Given the description of an element on the screen output the (x, y) to click on. 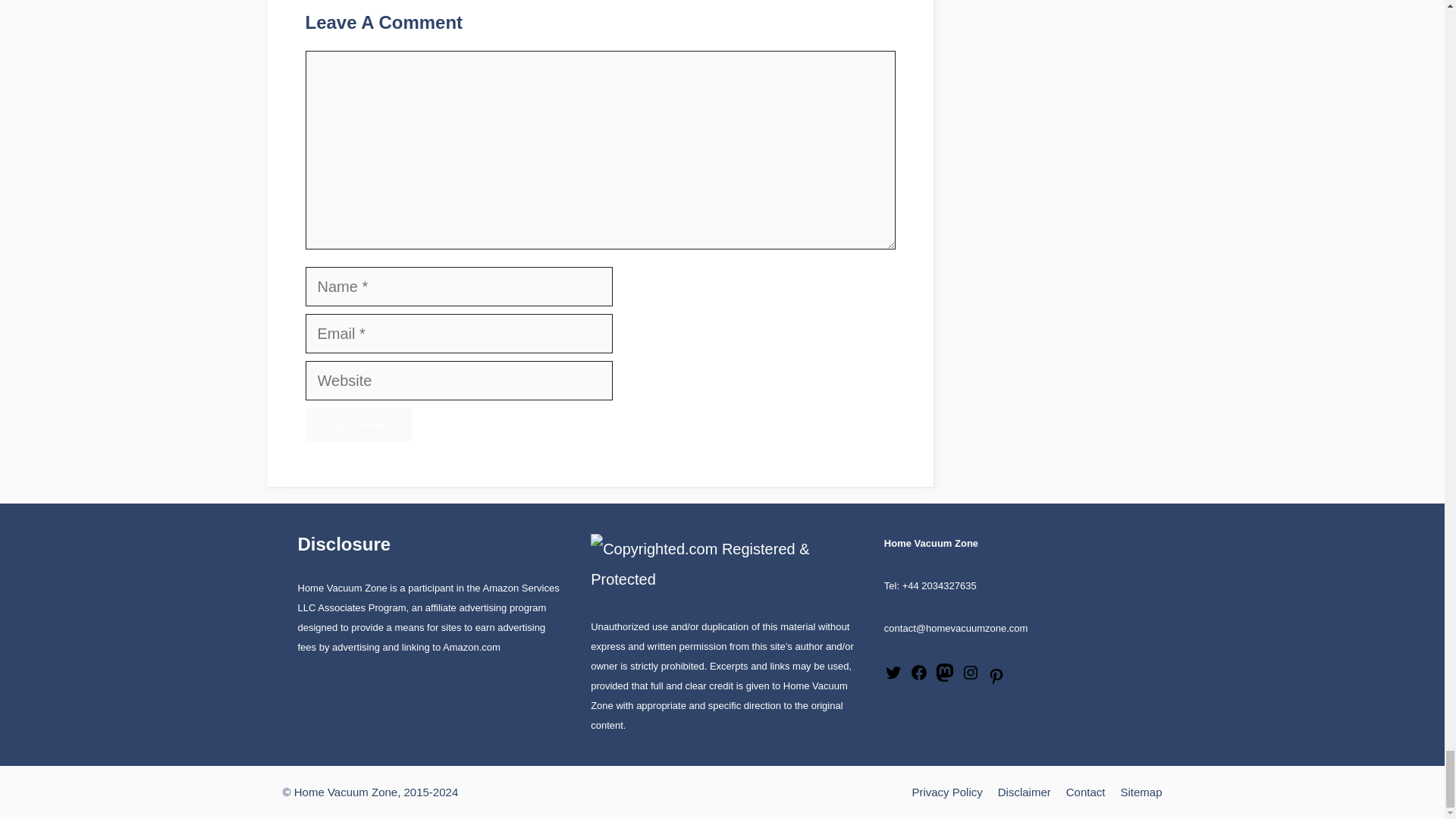
Post Comment (358, 424)
